Given the description of an element on the screen output the (x, y) to click on. 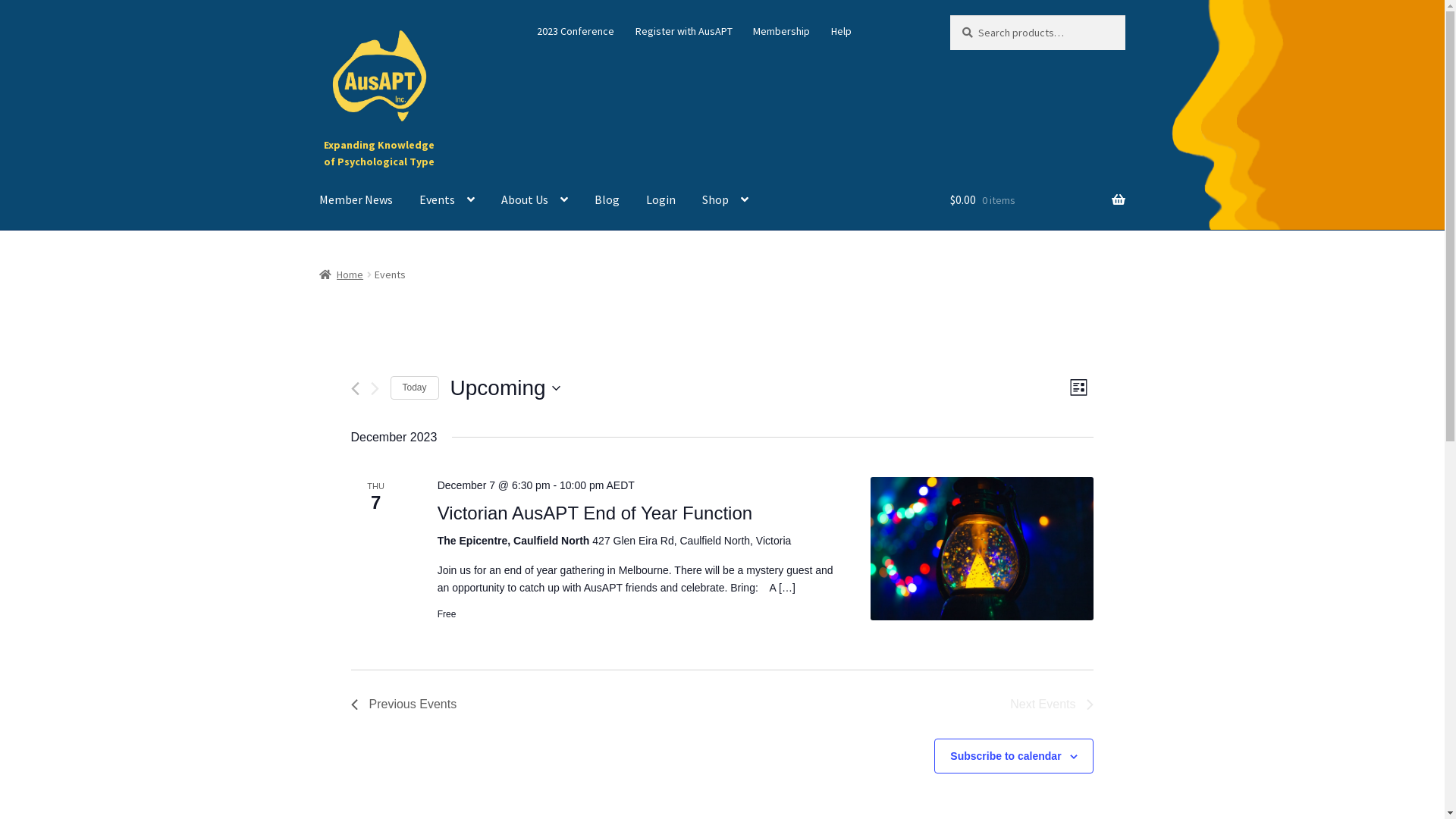
Membership Element type: text (781, 31)
Shop Element type: text (725, 199)
Previous Events Element type: text (404, 704)
Home Element type: text (341, 273)
Victorian AusAPT End of Year Function Element type: text (594, 513)
Next Events Element type: text (1051, 704)
Today Element type: text (414, 387)
Search Element type: text (949, 14)
Register with AusAPT Element type: text (684, 31)
$0.00 0 items Element type: text (1037, 199)
Previous Events Element type: hover (355, 388)
Next Events Element type: hover (374, 388)
Skip to navigation Element type: text (318, 14)
List Element type: text (1078, 387)
Blog Element type: text (606, 199)
Login Element type: text (660, 199)
Events Element type: text (446, 199)
Member News Element type: text (355, 199)
Upcoming Element type: text (505, 388)
Victorian AusAPT End of Year Function Element type: hover (982, 548)
Help Element type: text (841, 31)
About Us Element type: text (534, 199)
Subscribe to calendar Element type: text (1005, 755)
2023 Conference Element type: text (575, 31)
